Given the description of an element on the screen output the (x, y) to click on. 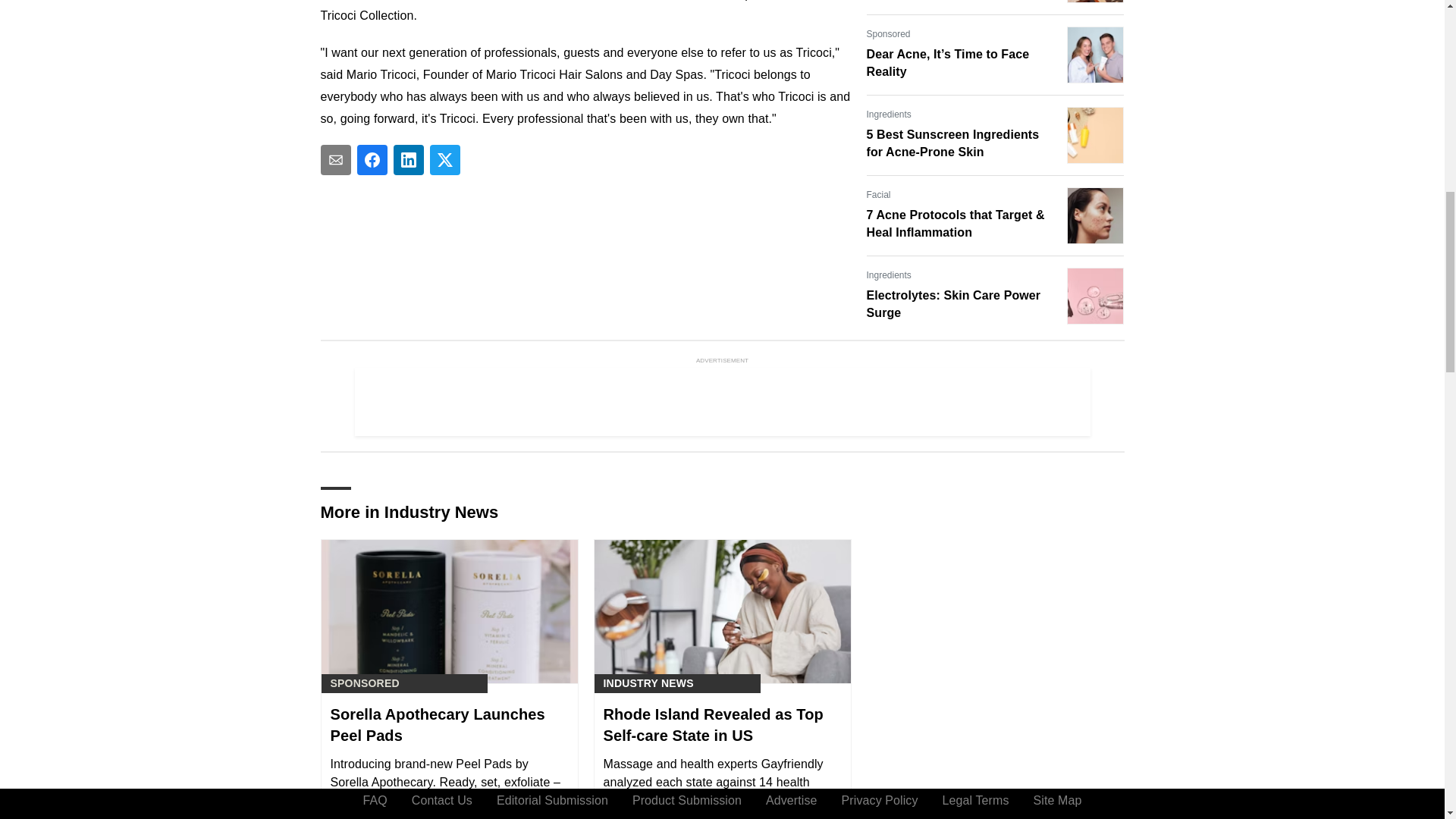
Share To email (335, 159)
Share To facebook (371, 159)
Share To linkedin (408, 159)
Share To twitter (444, 159)
Sponsored (888, 33)
